Given the description of an element on the screen output the (x, y) to click on. 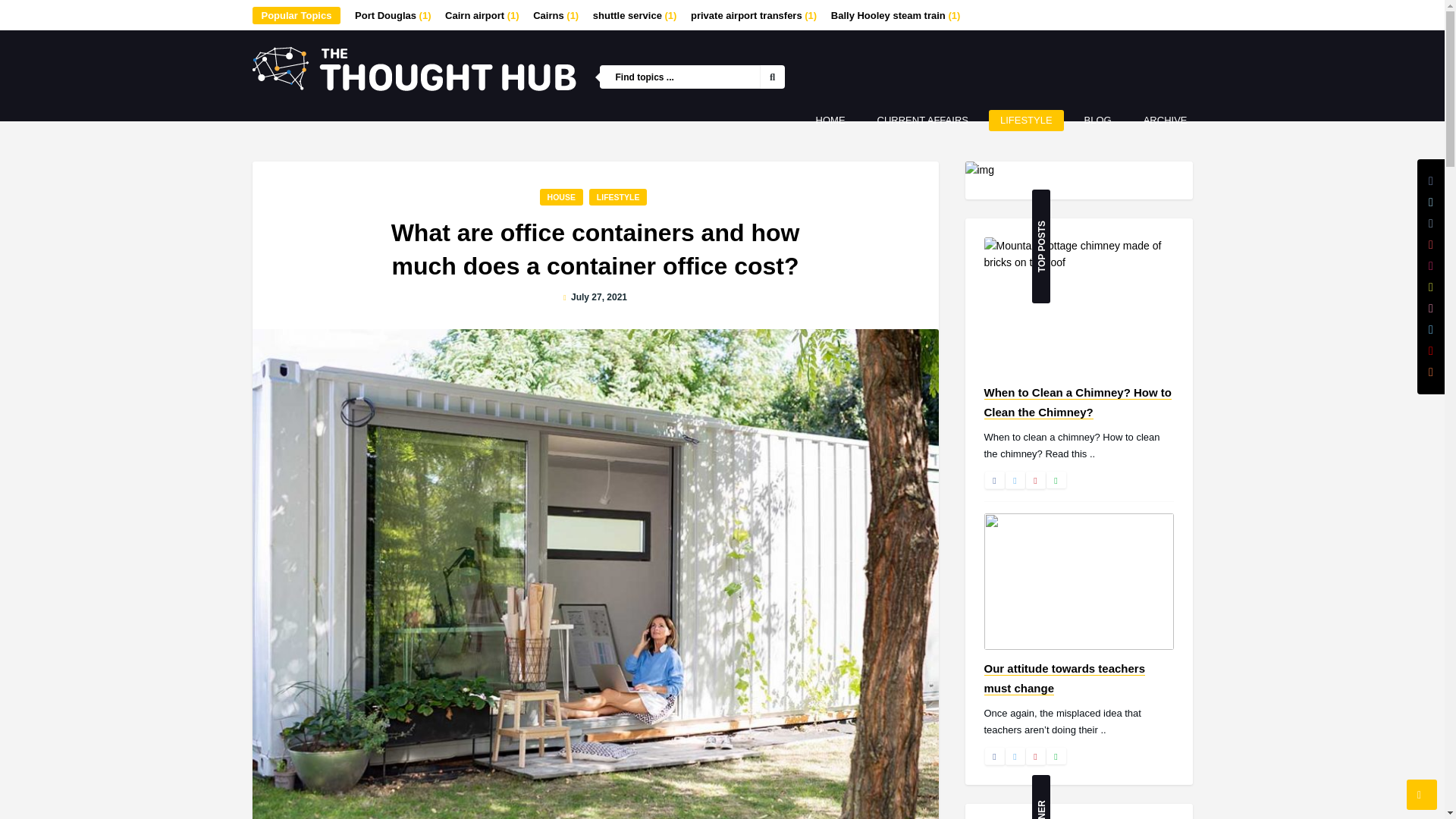
HOUSE (561, 197)
BLOG (1097, 120)
ARCHIVE (1165, 120)
CURRENT AFFAIRS (922, 120)
LIFESTYLE (1026, 120)
HOME (831, 120)
LIFESTYLE (618, 197)
